Given the description of an element on the screen output the (x, y) to click on. 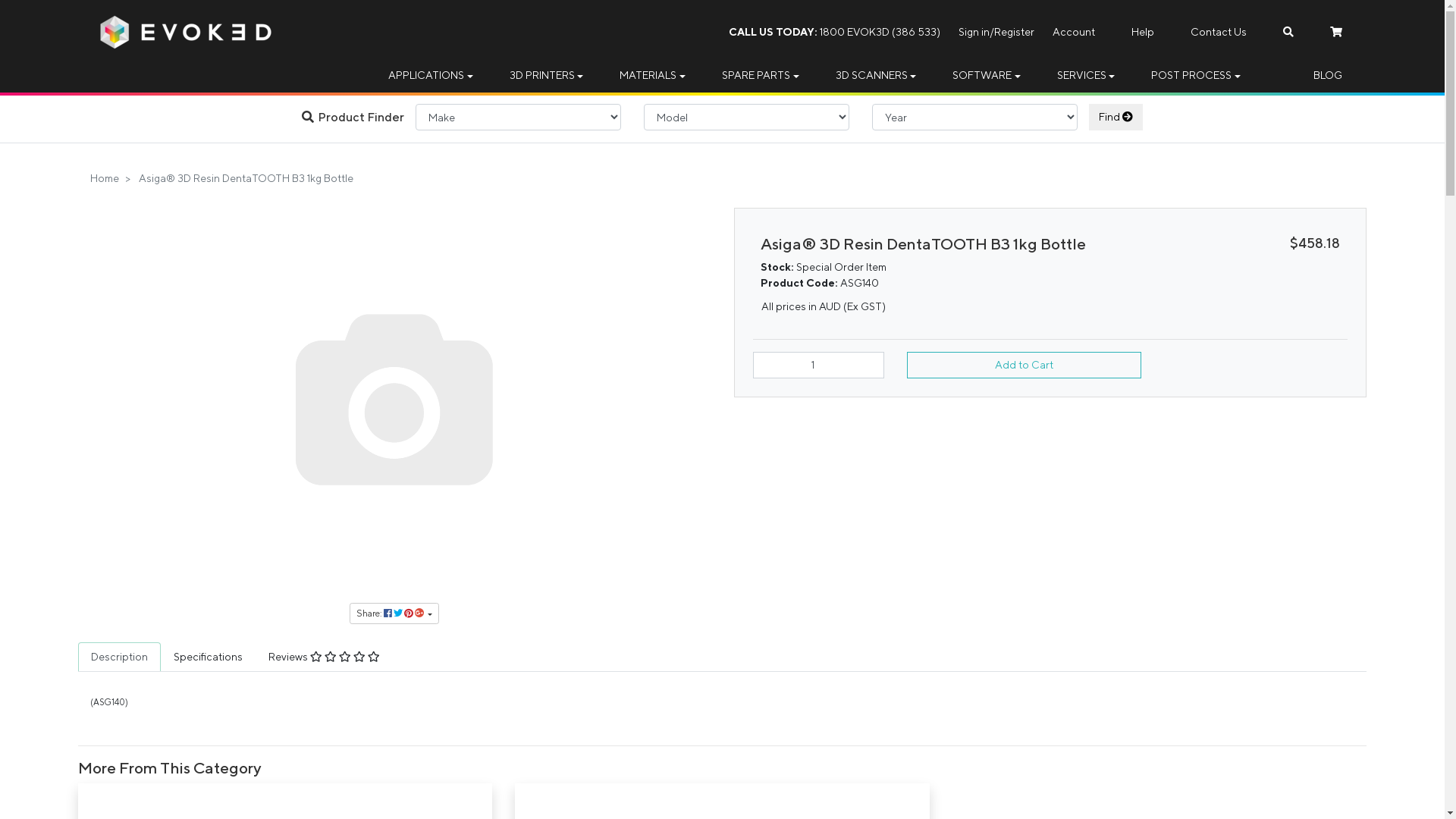
Sign in/ Element type: text (976, 32)
3D PRINTERS Element type: text (546, 75)
BLOG Element type: text (1327, 75)
APPLICATIONS Element type: text (430, 75)
SOFTWARE Element type: text (986, 75)
CALL US TODAY: 1800 EVOK3D (386 533) Element type: text (834, 32)
Contact Us Element type: text (1218, 32)
MATERIALS Element type: text (652, 75)
3D SCANNERS Element type: text (876, 75)
Specifications Element type: text (207, 656)
Help Element type: text (1142, 32)
Home Element type: text (104, 178)
Description Element type: text (119, 656)
SPARE PARTS Element type: text (760, 75)
Add to Cart Element type: text (1023, 364)
EVOK3D Element type: hover (185, 31)
Reviews Element type: text (323, 656)
Product main image Element type: hover (394, 396)
Find Element type: text (1115, 116)
POST PROCESS Element type: text (1195, 75)
SERVICES Element type: text (1085, 75)
Share: Element type: text (394, 613)
Register Element type: text (1014, 32)
Account Element type: text (1073, 32)
